Given the description of an element on the screen output the (x, y) to click on. 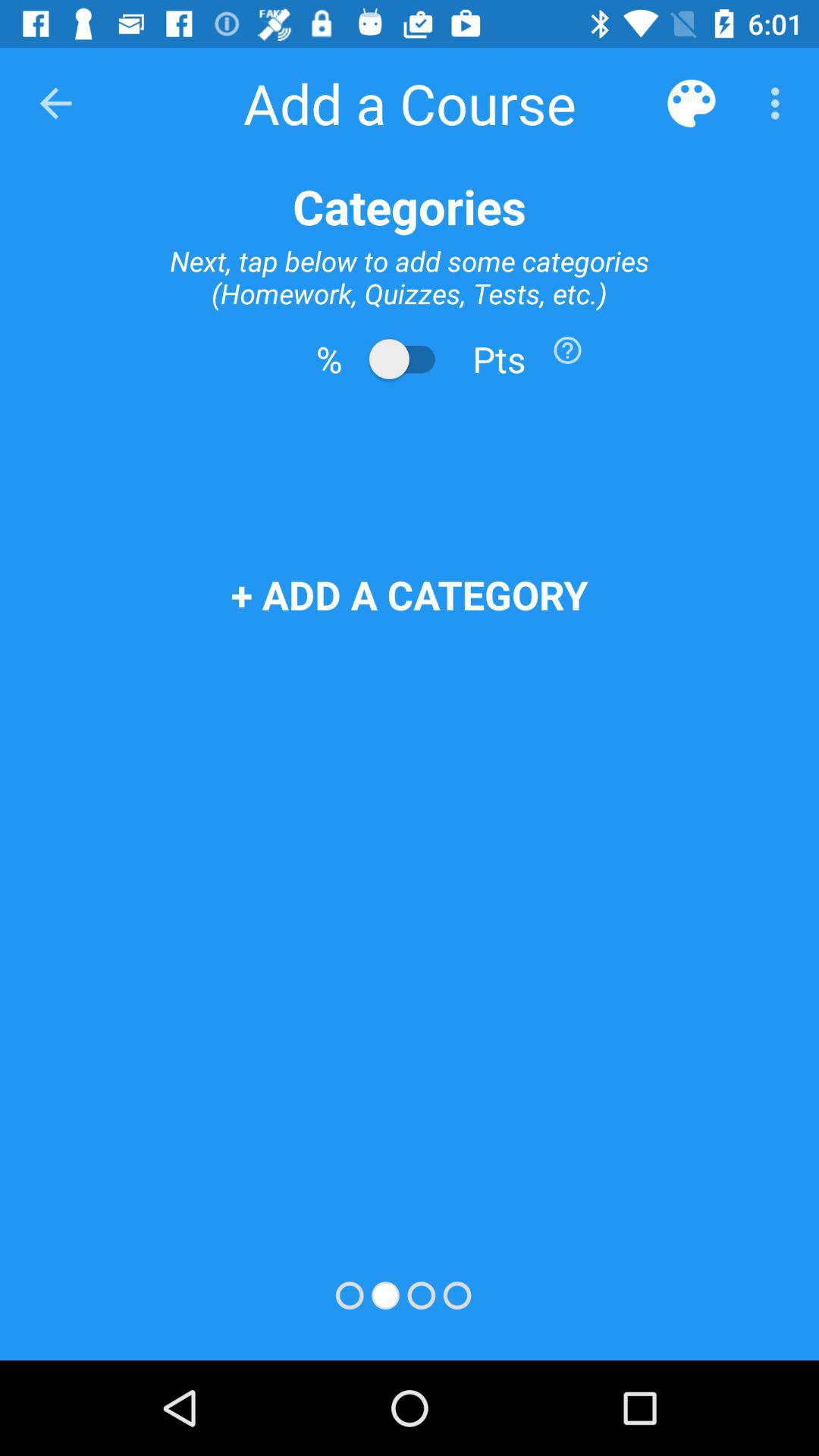
press the item to the right of pts item (567, 350)
